Given the description of an element on the screen output the (x, y) to click on. 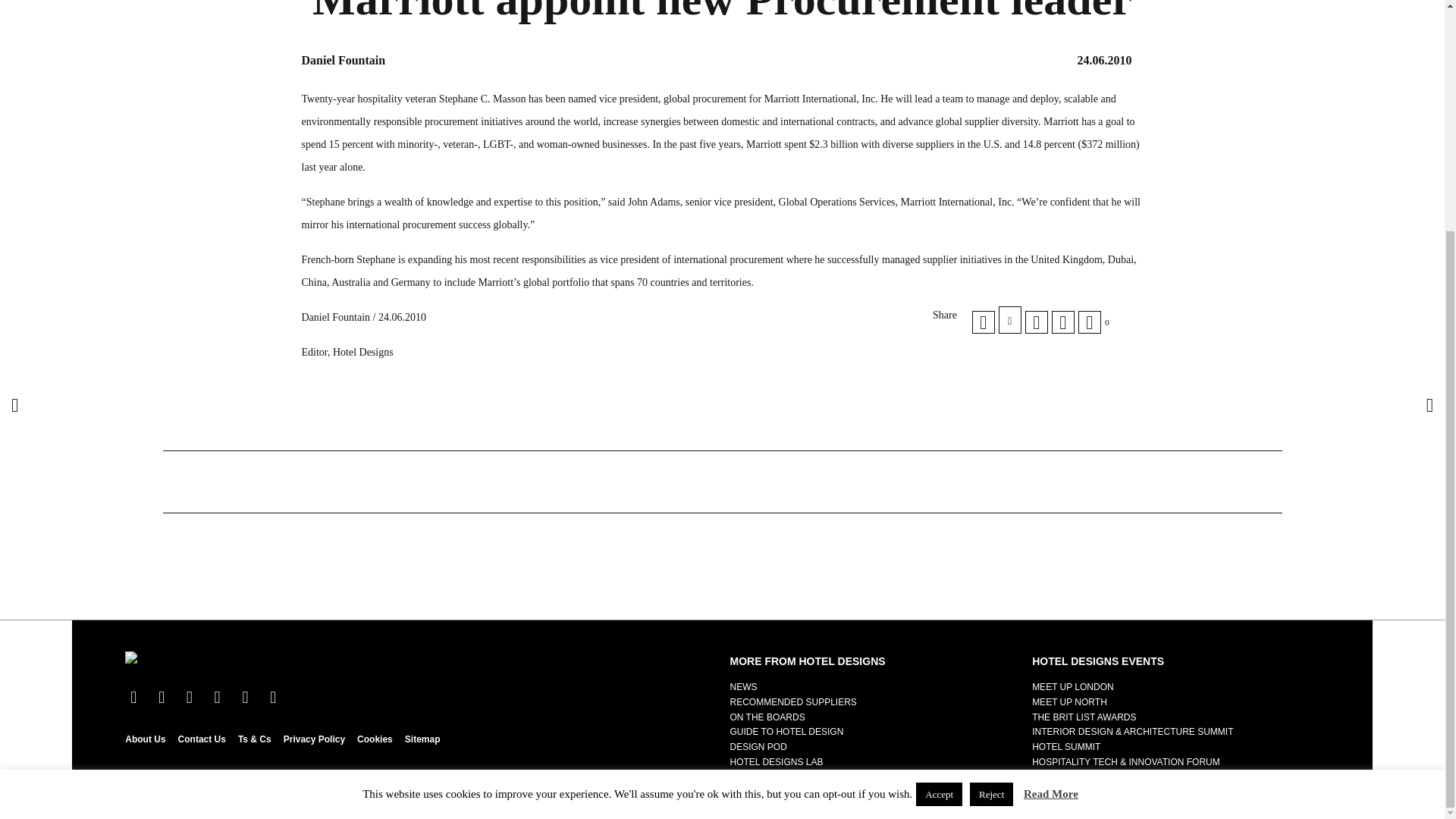
Marriott appoint new Procurement leader (1010, 319)
Marriott appoint new Procurement leader (1036, 322)
Marriott appoint new Procurement leader (983, 322)
Marriott appoint new Procurement leader (1062, 322)
